Given the description of an element on the screen output the (x, y) to click on. 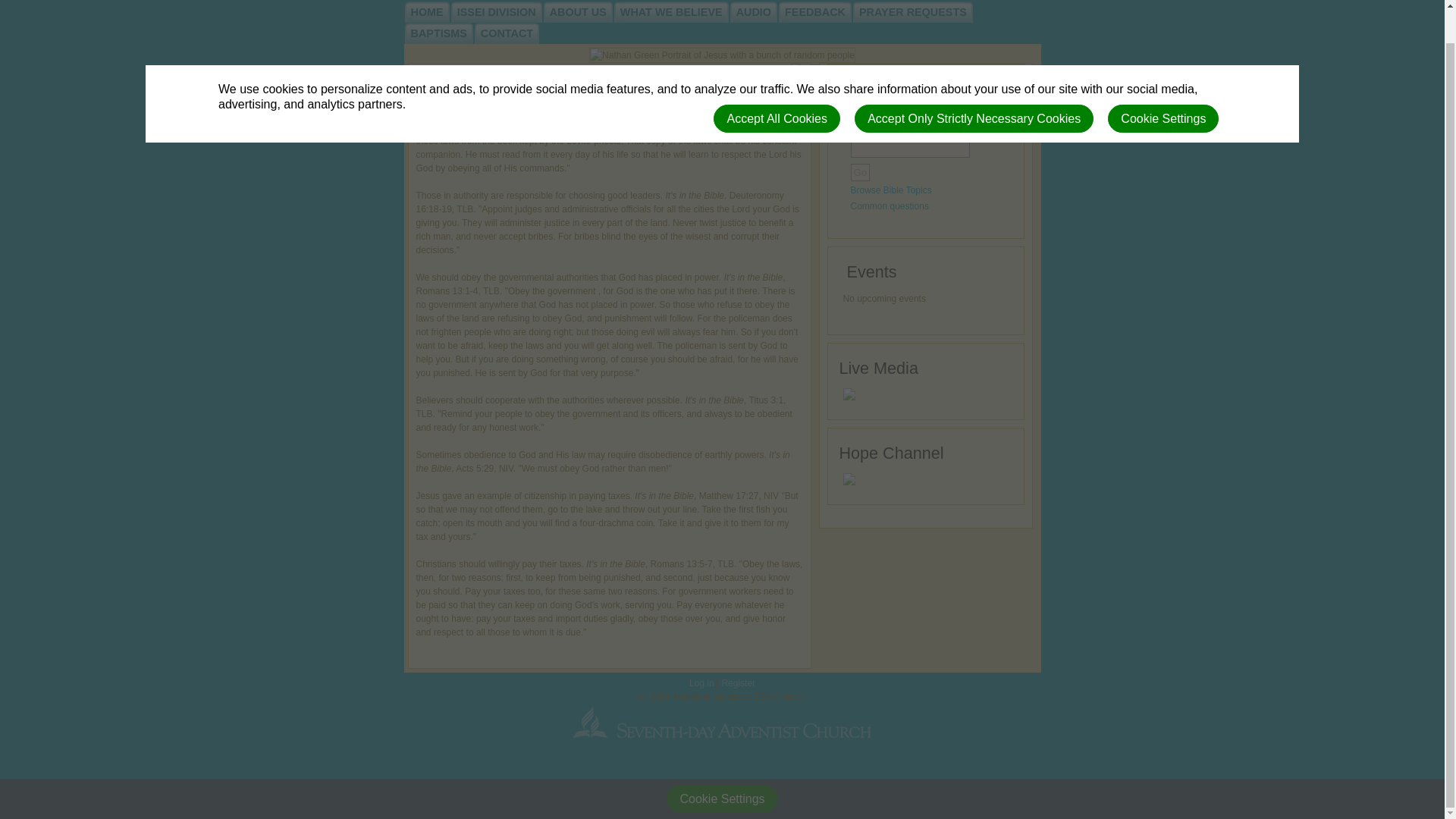
HOME (426, 11)
AUDIO (753, 11)
Cookie Settings (721, 798)
PRAYER REQUESTS (912, 11)
BAPTISMS (438, 33)
ISSEI DIVISION (496, 11)
Browse Bible Topics (890, 190)
Accept Only Strictly Necessary Cookies (973, 84)
ABOUT US (577, 11)
Accept All Cookies (776, 84)
Go (860, 171)
Common questions (889, 205)
Cookie Settings (1163, 84)
Register (737, 683)
